Given the description of an element on the screen output the (x, y) to click on. 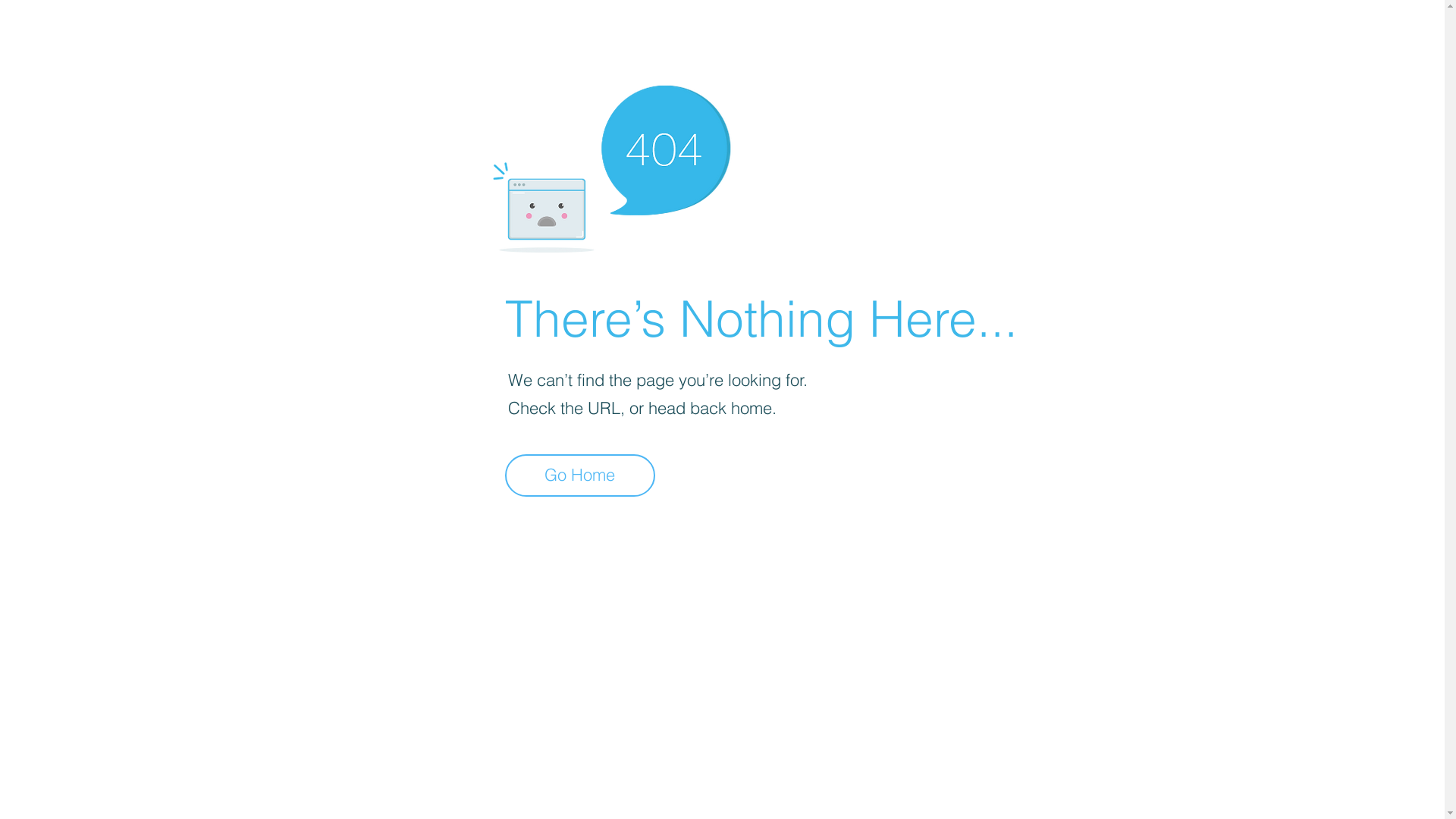
404-icon_2.png Element type: hover (610, 164)
Go Home Element type: text (580, 475)
